Given the description of an element on the screen output the (x, y) to click on. 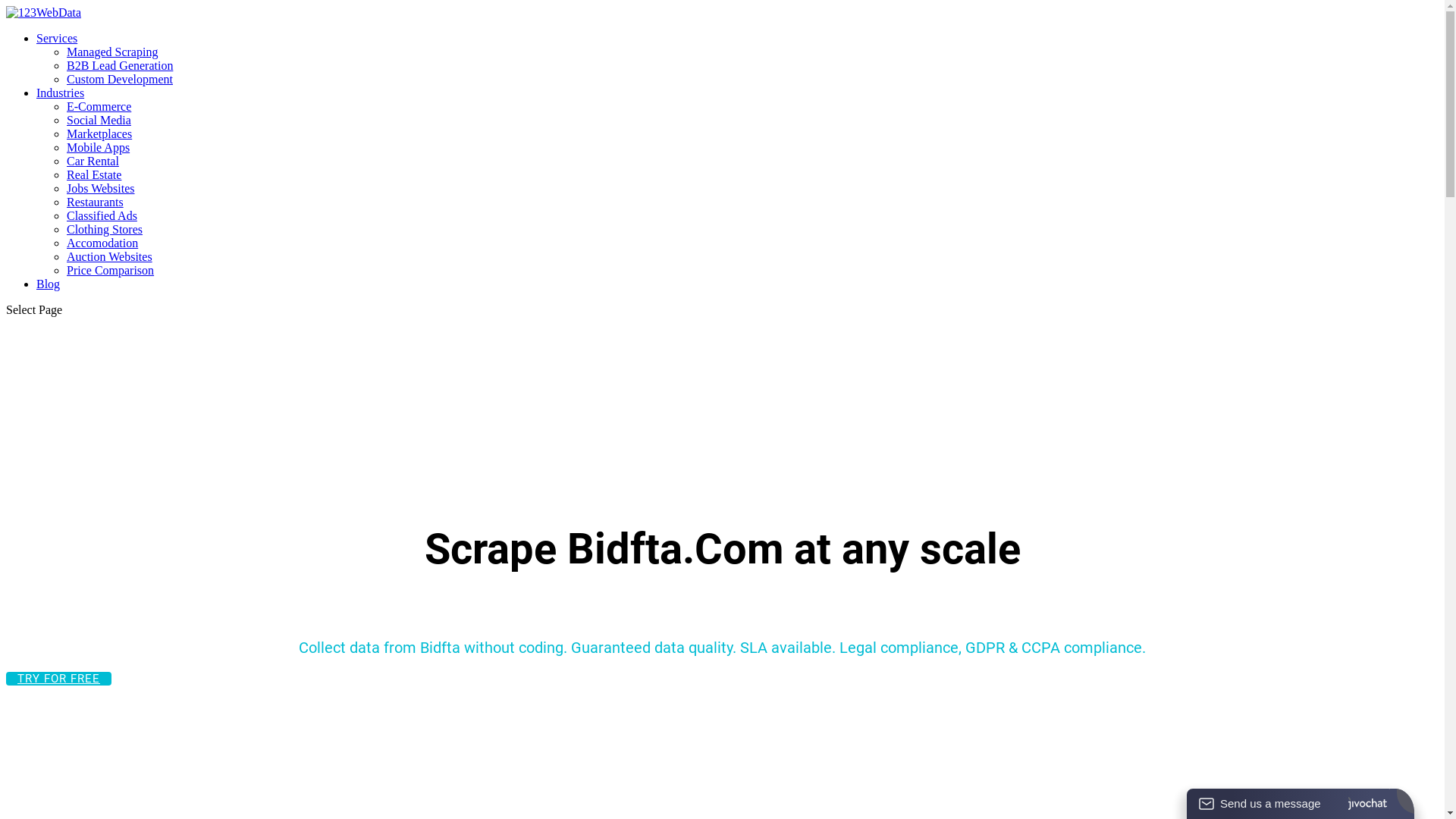
Marketplaces Element type: text (98, 133)
Jobs Websites Element type: text (100, 188)
Car Rental Element type: text (92, 160)
B2B Lead Generation Element type: text (119, 65)
Industries Element type: text (60, 92)
Services Element type: text (56, 37)
TRY FOR FREE Element type: text (58, 678)
Real Estate Element type: text (93, 174)
Managed Scraping Element type: text (111, 51)
Auction Websites Element type: text (109, 256)
Custom Development Element type: text (119, 78)
Price Comparison Element type: text (109, 269)
E-Commerce Element type: text (98, 106)
Clothing Stores Element type: text (104, 228)
Blog Element type: text (47, 283)
Mobile Apps Element type: text (97, 147)
Classified Ads Element type: text (101, 215)
Accomodation Element type: text (102, 242)
Restaurants Element type: text (94, 201)
Social Media Element type: text (98, 119)
